Given the description of an element on the screen output the (x, y) to click on. 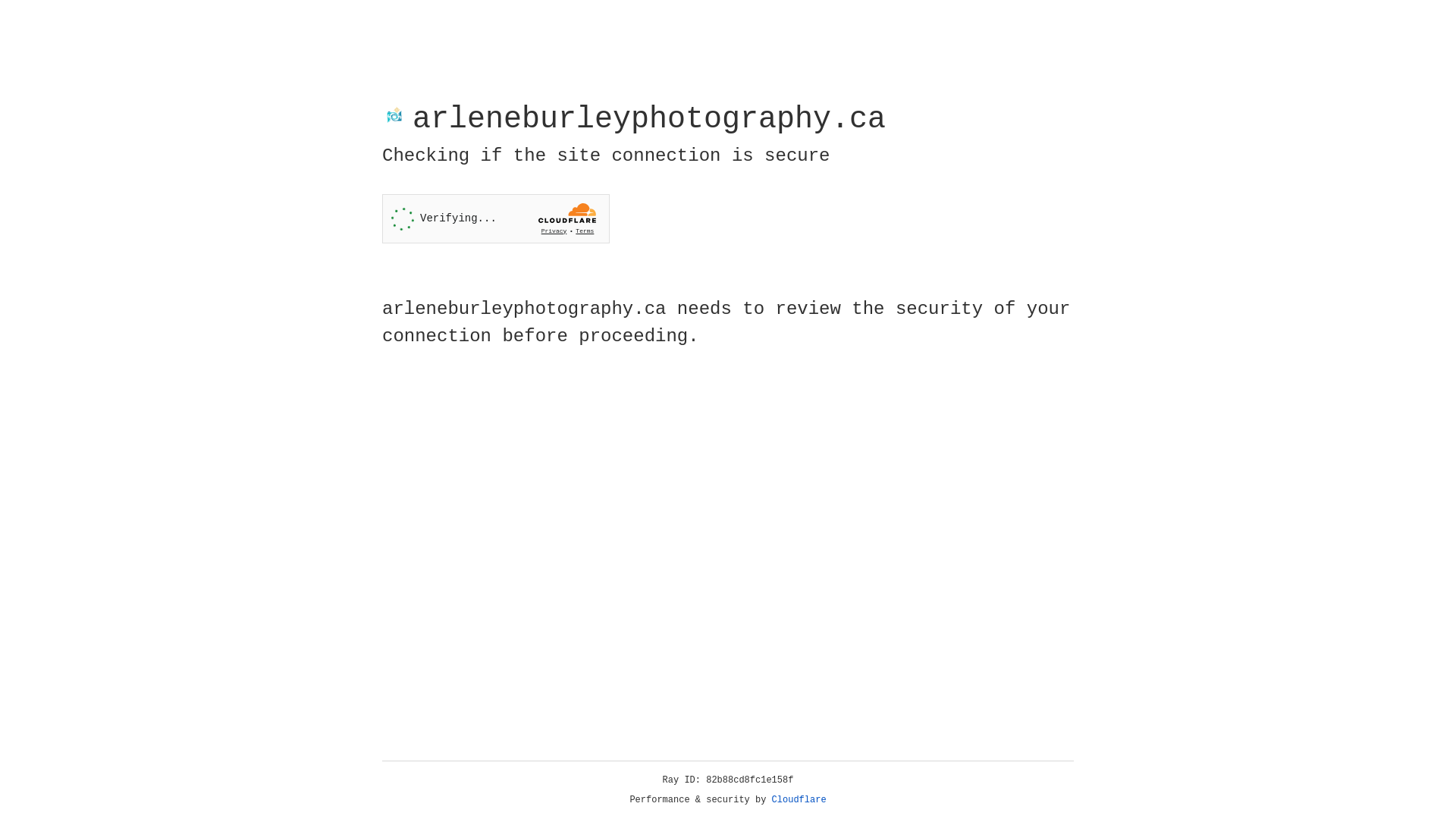
Cloudflare Element type: text (798, 799)
Widget containing a Cloudflare security challenge Element type: hover (495, 218)
